Given the description of an element on the screen output the (x, y) to click on. 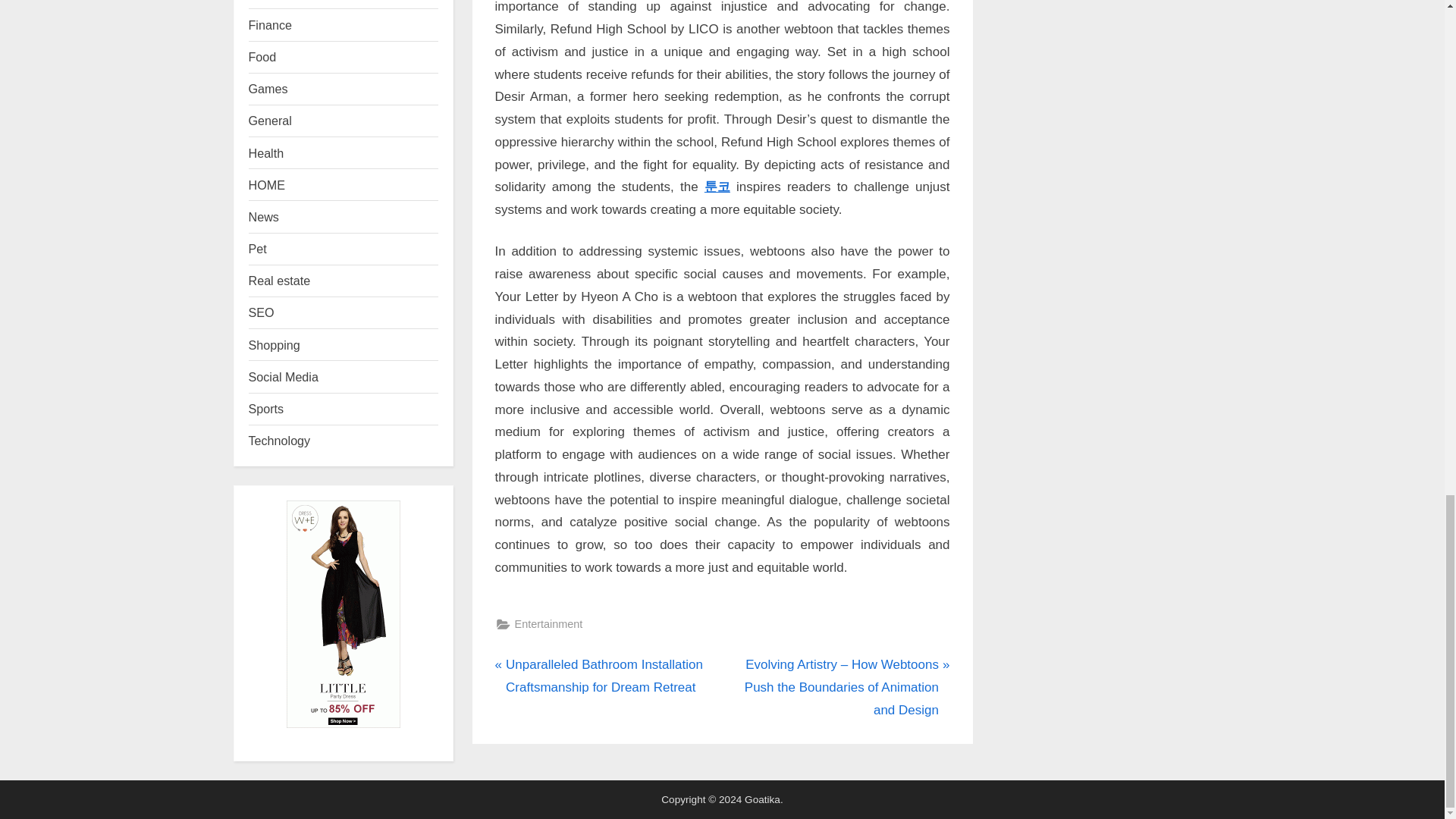
Entertainment (547, 624)
